Given the description of an element on the screen output the (x, y) to click on. 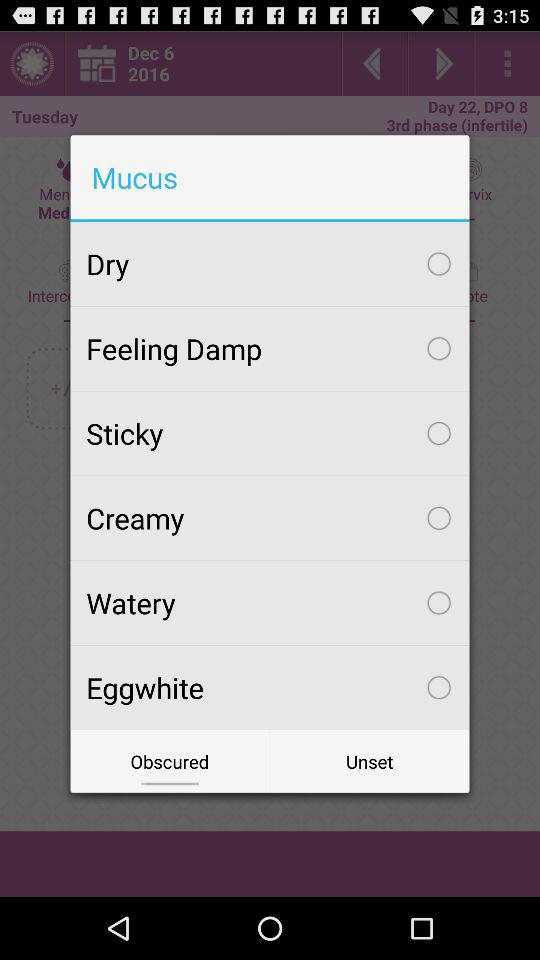
swipe until sticky item (269, 433)
